Given the description of an element on the screen output the (x, y) to click on. 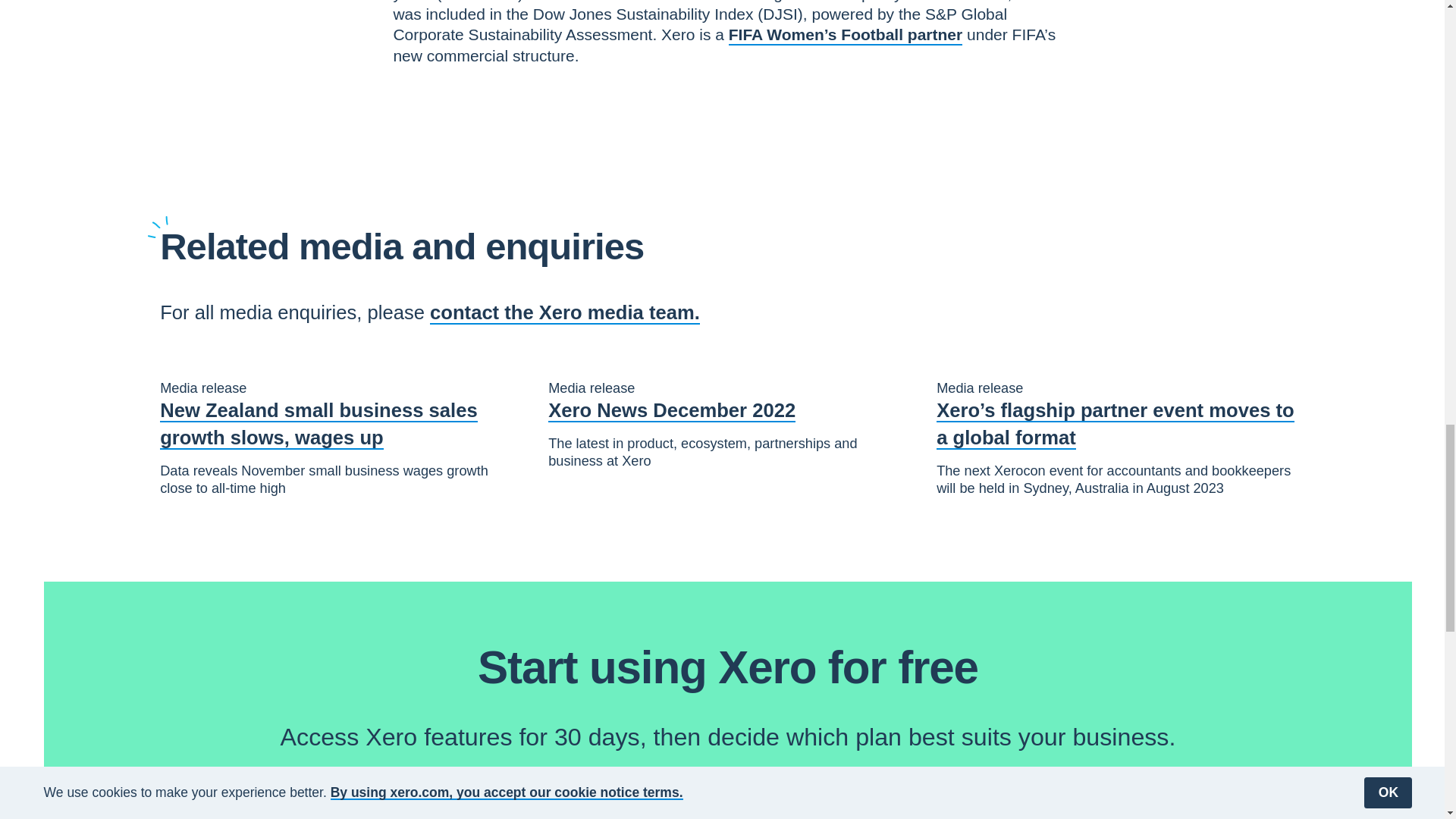
contact the Xero media team. (564, 312)
Try Xero for free (668, 798)
See all features (803, 799)
New Zealand small business sales growth slows, wages up (339, 424)
Xero News December 2022 (671, 411)
